Given the description of an element on the screen output the (x, y) to click on. 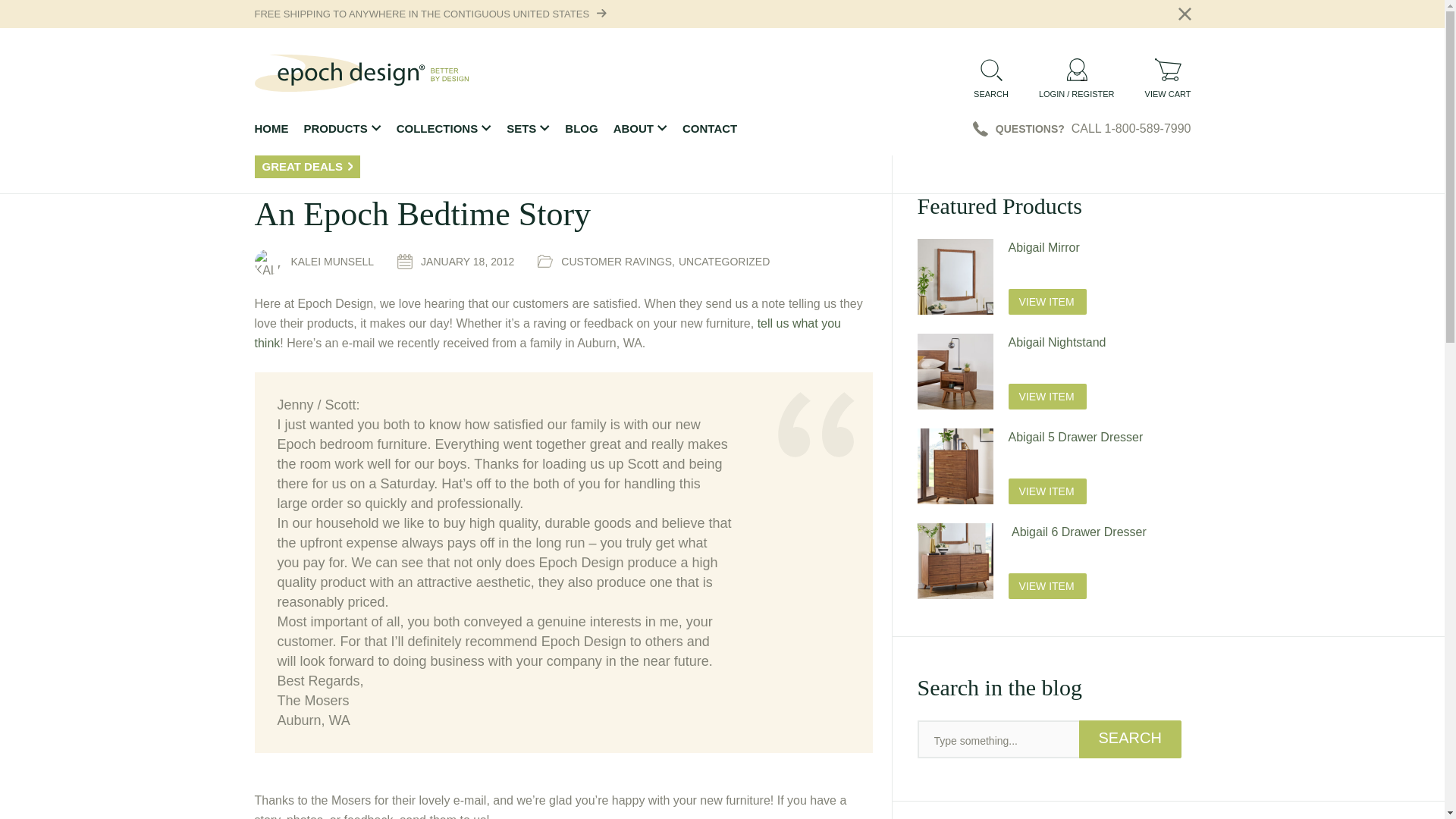
Epoch Design (361, 72)
Search (1129, 739)
SETS (528, 128)
PRODUCTS (341, 128)
View Cart (1167, 76)
SEARCH (991, 76)
VIEW CART (1167, 76)
HOME (271, 128)
COLLECTIONS (444, 128)
Epoch Design (361, 72)
Search (1129, 739)
FREE SHIPPING TO ANYWHERE IN THE CONTIGUOUS UNITED STATES (421, 13)
